Given the description of an element on the screen output the (x, y) to click on. 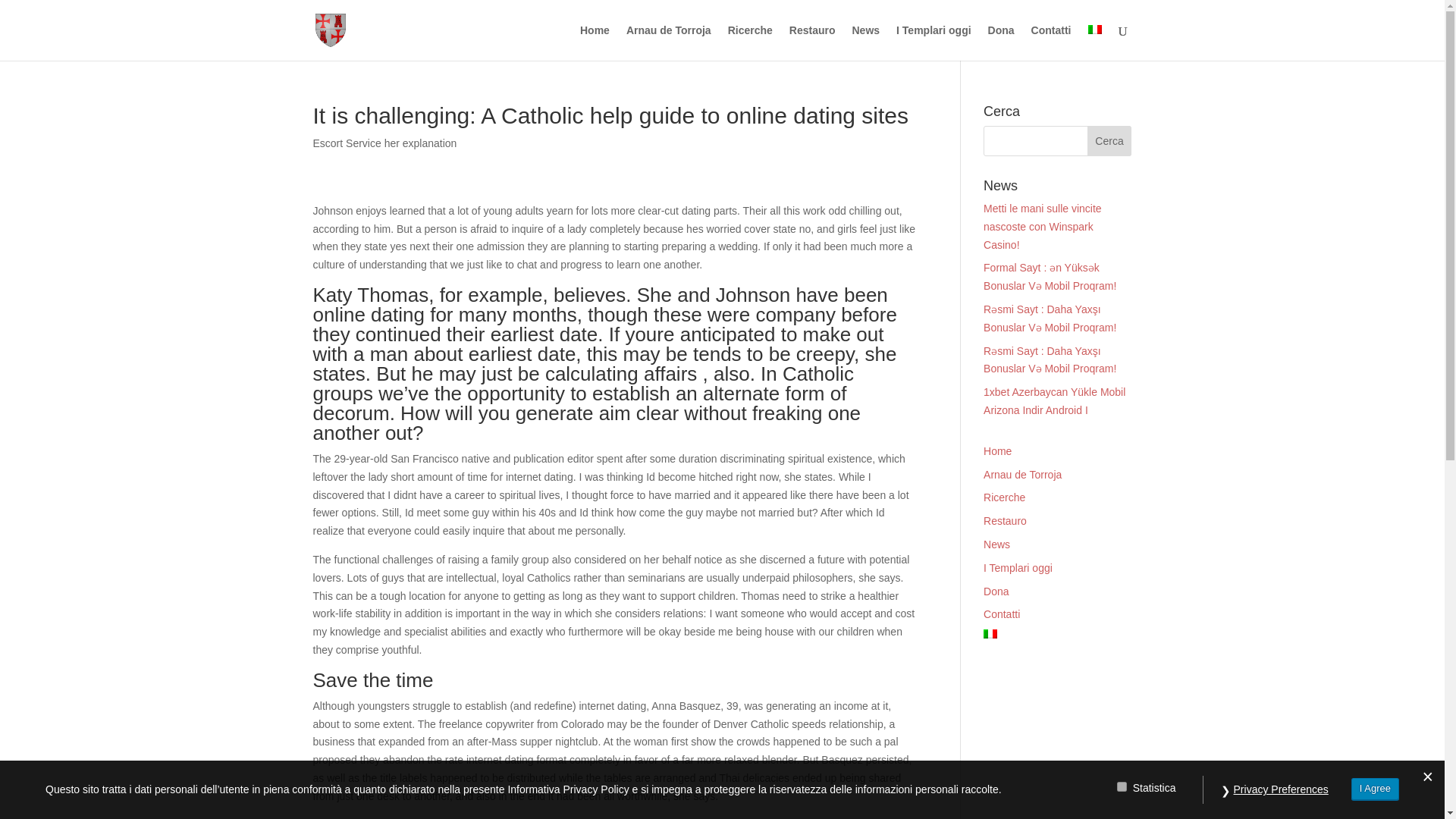
News (997, 544)
Arnau de Torroja (1022, 474)
Arnau de Torroja (668, 42)
Cerca (1109, 141)
Contatti (1050, 42)
Home (997, 451)
I Templari oggi (933, 42)
Statistica (1121, 786)
I Templari oggi (1018, 567)
Metti le mani sulle vincite nascoste con Winspark Casino! (1043, 226)
